Given the description of an element on the screen output the (x, y) to click on. 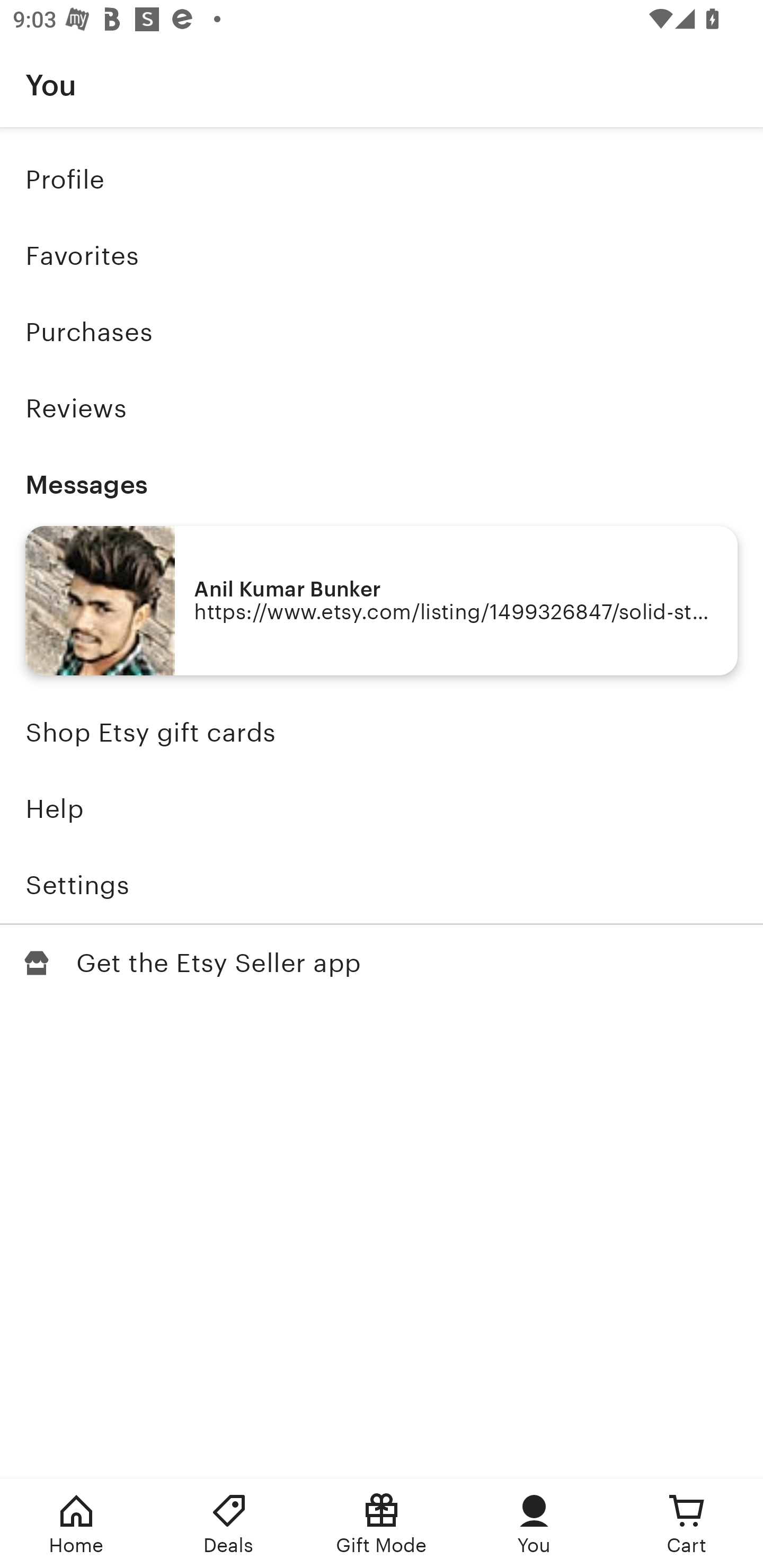
Profile (381, 179)
Favorites (381, 255)
Purchases (381, 332)
Reviews (381, 408)
Messages (381, 484)
Shop Etsy gift cards (381, 732)
Help (381, 808)
Settings (381, 884)
Get the Etsy Seller app (381, 963)
Home (76, 1523)
Deals (228, 1523)
Gift Mode (381, 1523)
Cart (686, 1523)
